Given the description of an element on the screen output the (x, y) to click on. 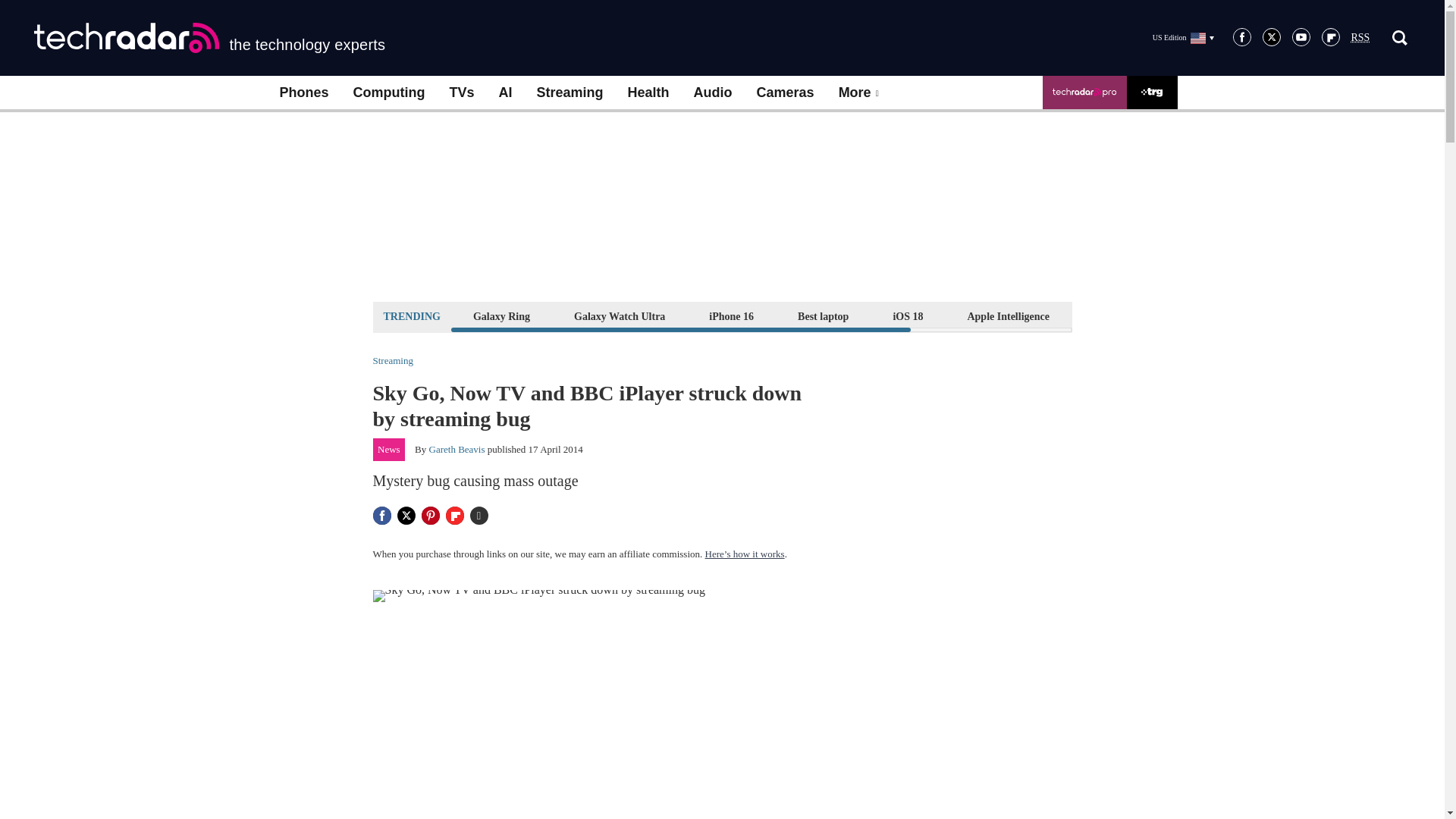
Audio (712, 92)
Really Simple Syndication (1360, 37)
Computing (389, 92)
TVs (461, 92)
AI (505, 92)
Health (648, 92)
Streaming (569, 92)
Cameras (785, 92)
the technology experts (209, 38)
US Edition (1182, 37)
Phones (303, 92)
